Given the description of an element on the screen output the (x, y) to click on. 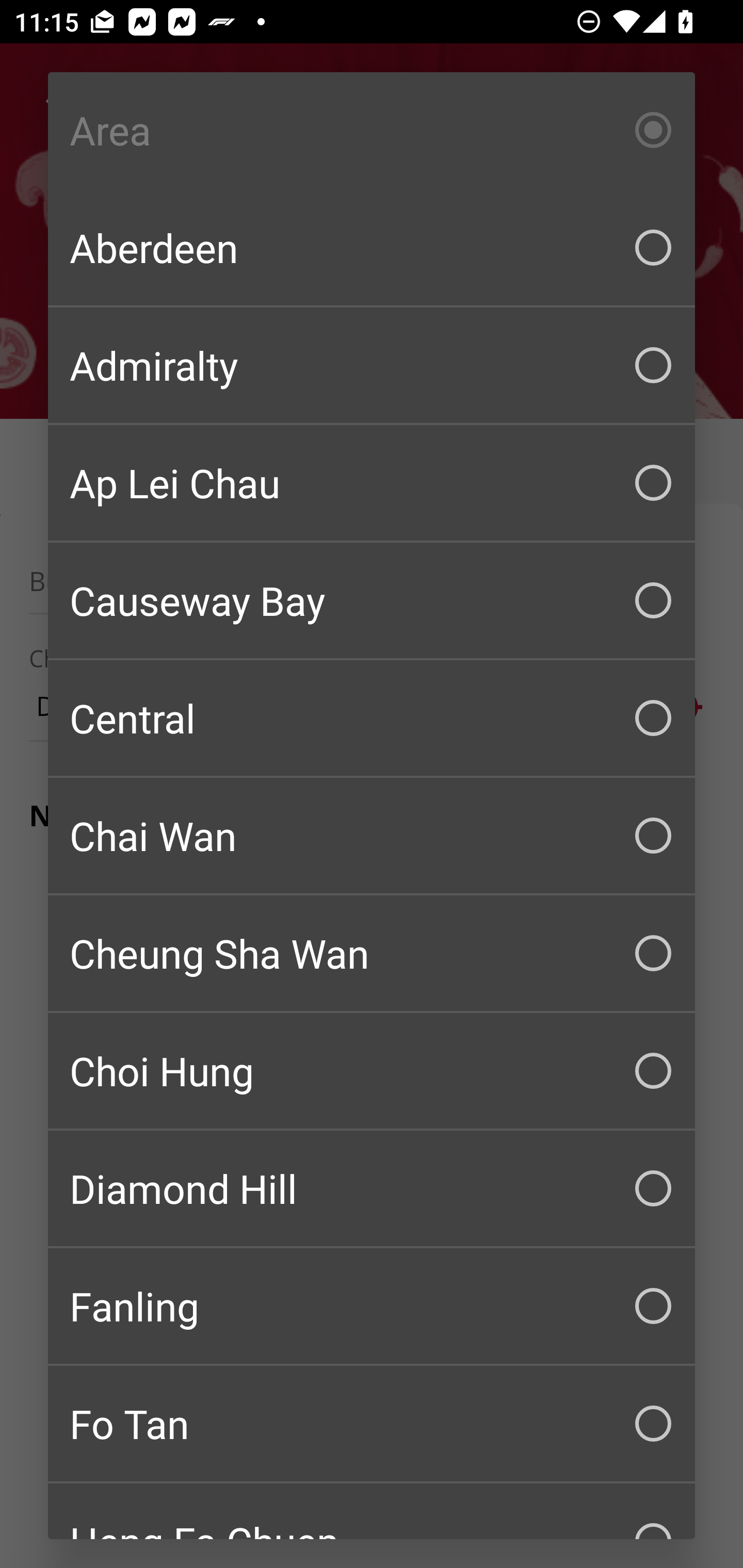
Aberdeen (371, 247)
Admiralty (371, 365)
Ap Lei Chau (371, 482)
Causeway Bay (371, 600)
Central (371, 718)
Chai Wan (371, 835)
Cheung Sha Wan (371, 953)
Choi Hung (371, 1070)
Diamond Hill (371, 1188)
Fanling (371, 1306)
Fo Tan (371, 1423)
